Given the description of an element on the screen output the (x, y) to click on. 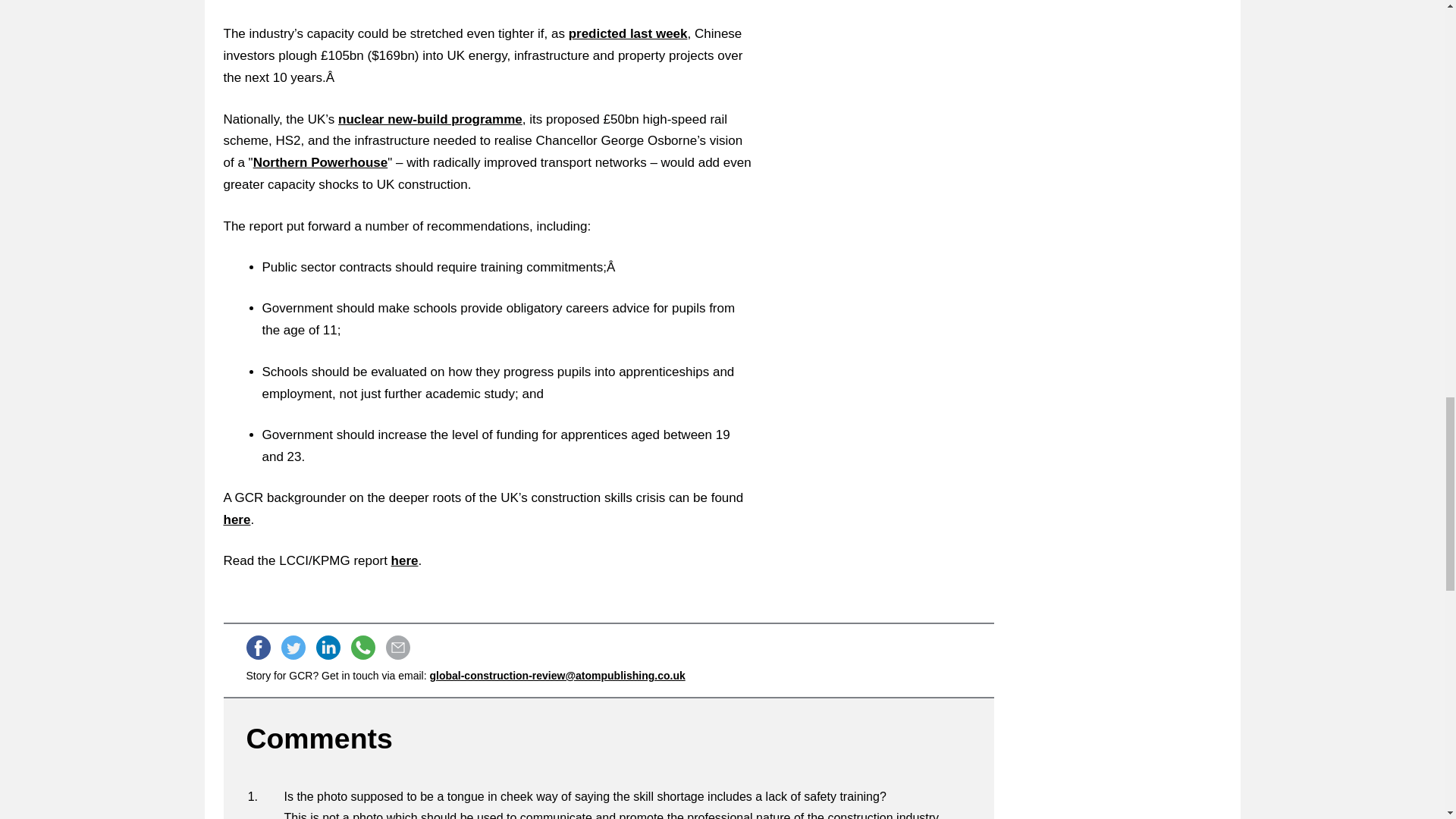
Send email (397, 647)
Tweet (292, 647)
Share on WhatsApp (362, 647)
Share on Facebook (257, 647)
Share on LinkedIn (327, 647)
